Given the description of an element on the screen output the (x, y) to click on. 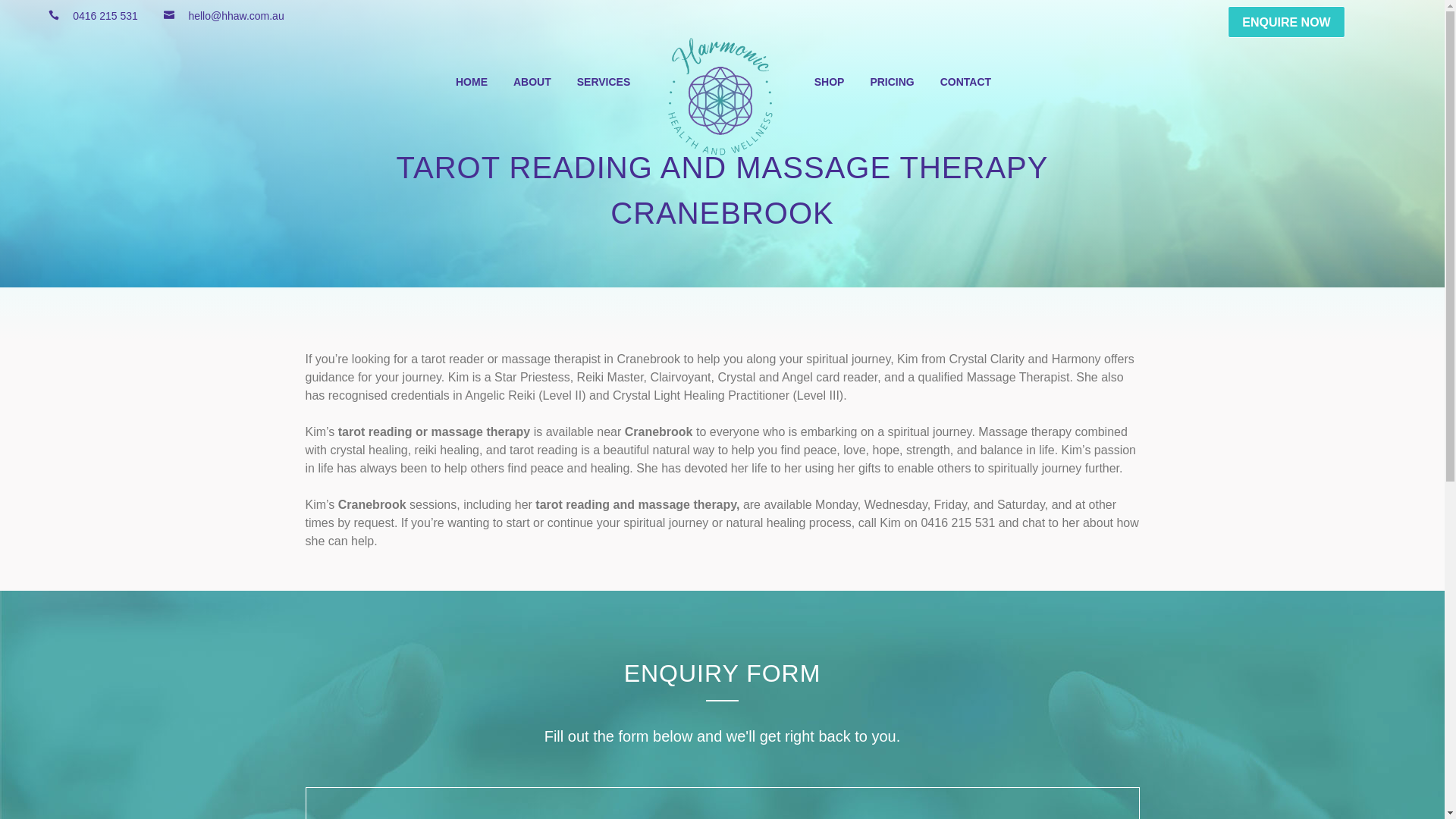
0416 215 531 Element type: text (99, 15)
PRICING Element type: text (891, 81)
HOME Element type: text (471, 81)
SERVICES Element type: text (603, 81)
CONTACT Element type: text (965, 81)
hello@hhaw.com.au Element type: text (229, 15)
ABOUT Element type: text (532, 81)
SHOP Element type: text (829, 81)
